Given the description of an element on the screen output the (x, y) to click on. 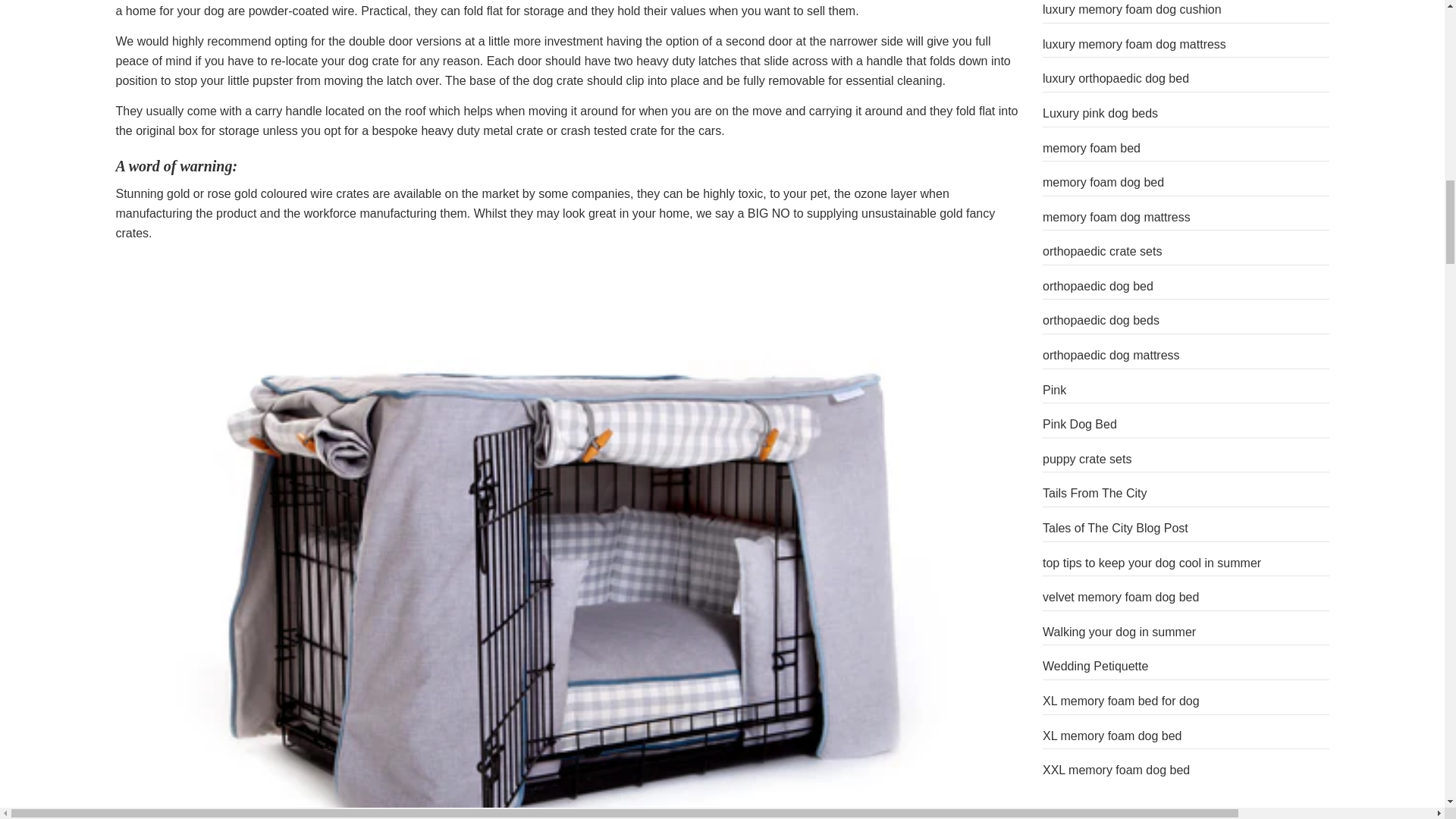
Show articles tagged luxury memory foam dog cushion (1131, 9)
